Given the description of an element on the screen output the (x, y) to click on. 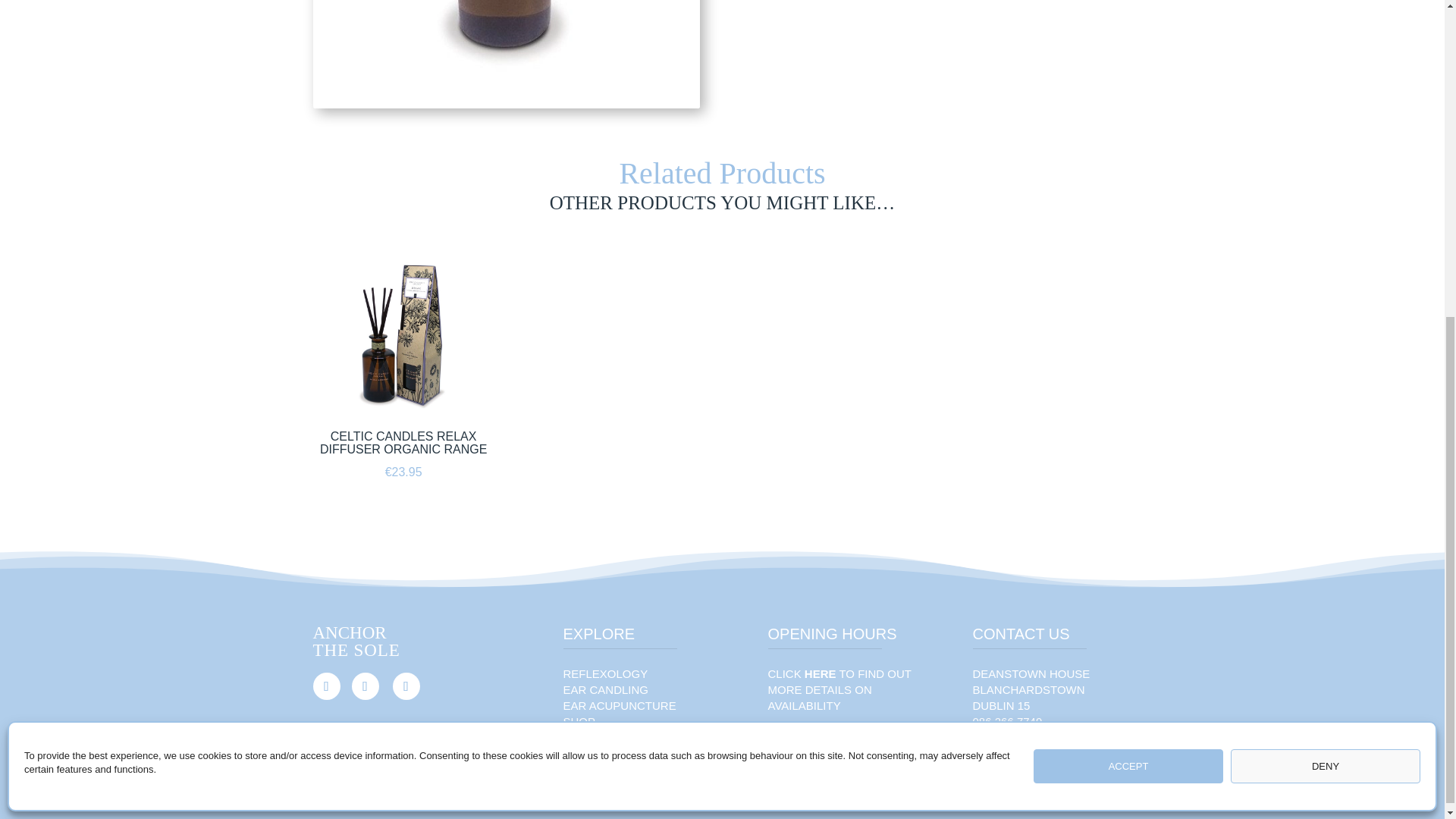
Celtic Candles Diffuser Refill - Uplift (505, 54)
Ruby Digital Marketing (577, 801)
BLOG (578, 753)
BLOG (578, 753)
REFLEXOLOGY (604, 673)
EAR CANDLING (604, 689)
EAR ACUPUNCTURE (618, 705)
REFLEXOLOGY (604, 673)
Follow on LinkedIn (406, 686)
Follow on Instagram (365, 686)
EAR CANDLING (604, 689)
Follow on Facebook (326, 686)
EAR ACUPUNCTURE (618, 705)
ACCEPT (1128, 251)
SHOP (578, 721)
